Given the description of an element on the screen output the (x, y) to click on. 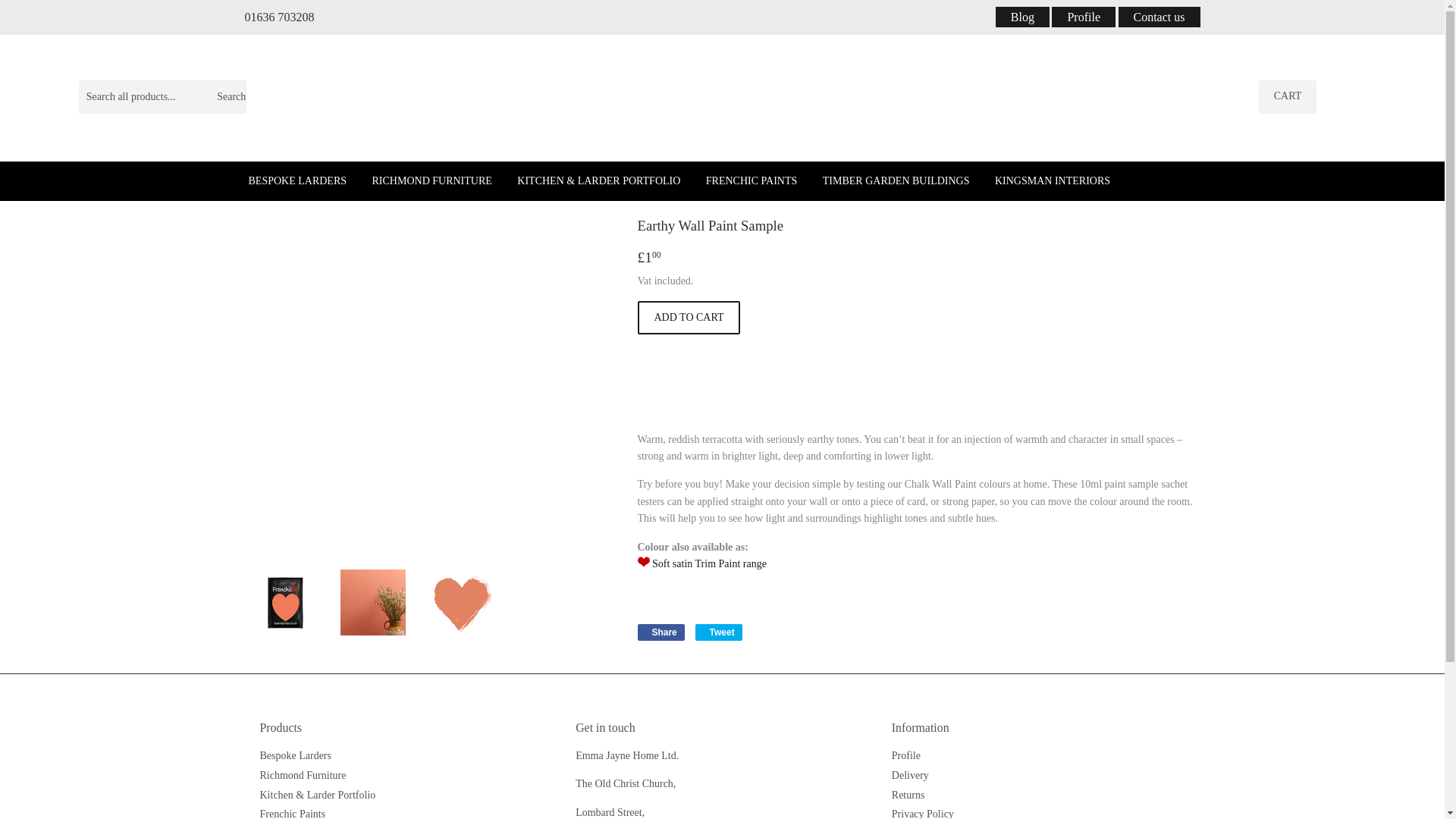
TIMBER GARDEN BUILDINGS (895, 180)
BESPOKE LARDERS (296, 180)
Share on Facebook (660, 632)
Profile (905, 755)
Soft satin Trim Paint range (709, 563)
Profile (1083, 16)
Tweet on Twitter (718, 632)
Blog (718, 632)
CART (660, 632)
ADD TO CART (1022, 16)
KINGSMAN INTERIORS (1288, 96)
About Emma Jayne Home (688, 317)
Bespoke Larders (1052, 180)
